Given the description of an element on the screen output the (x, y) to click on. 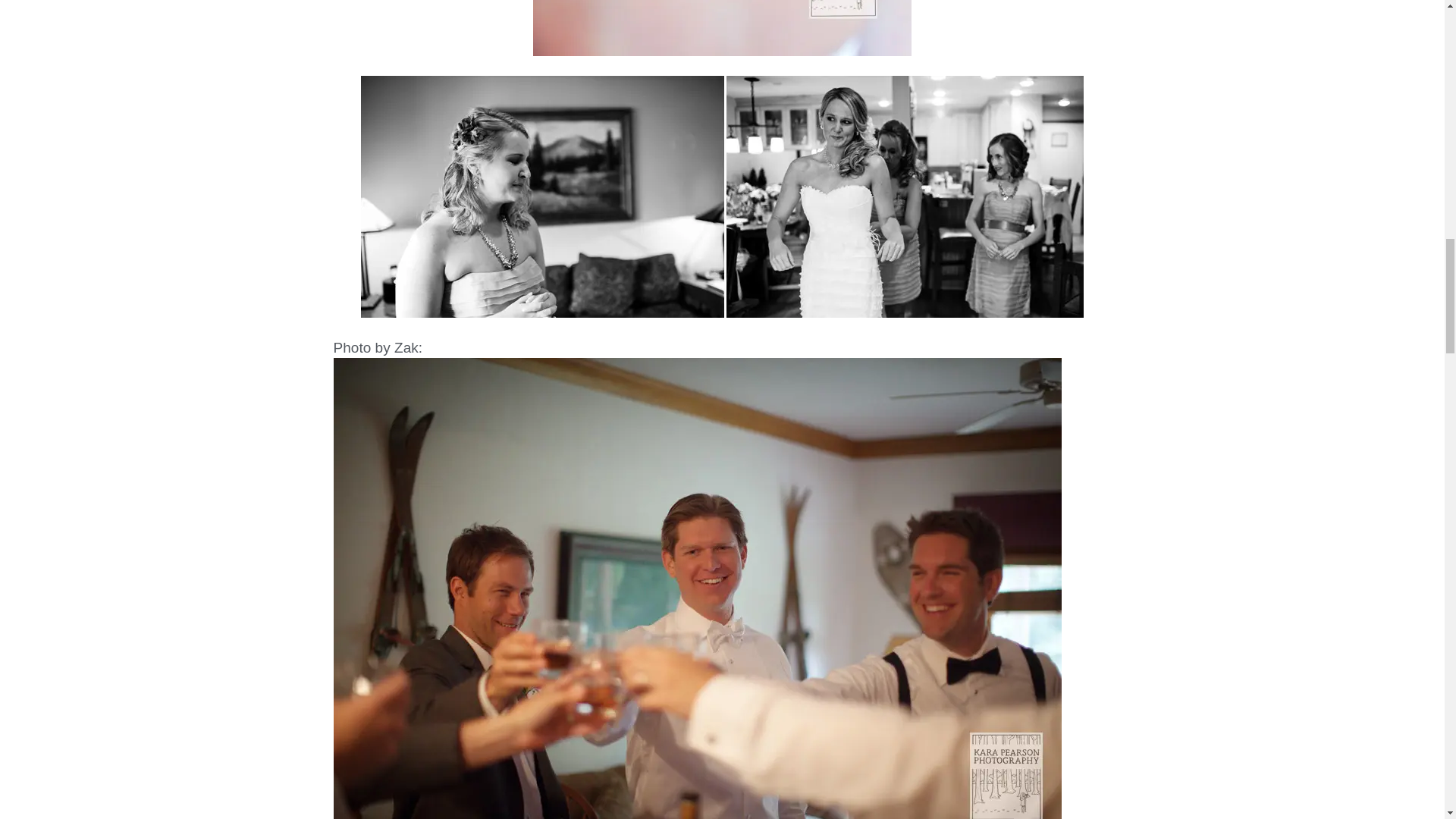
colorado-bride (721, 28)
